Given the description of an element on the screen output the (x, y) to click on. 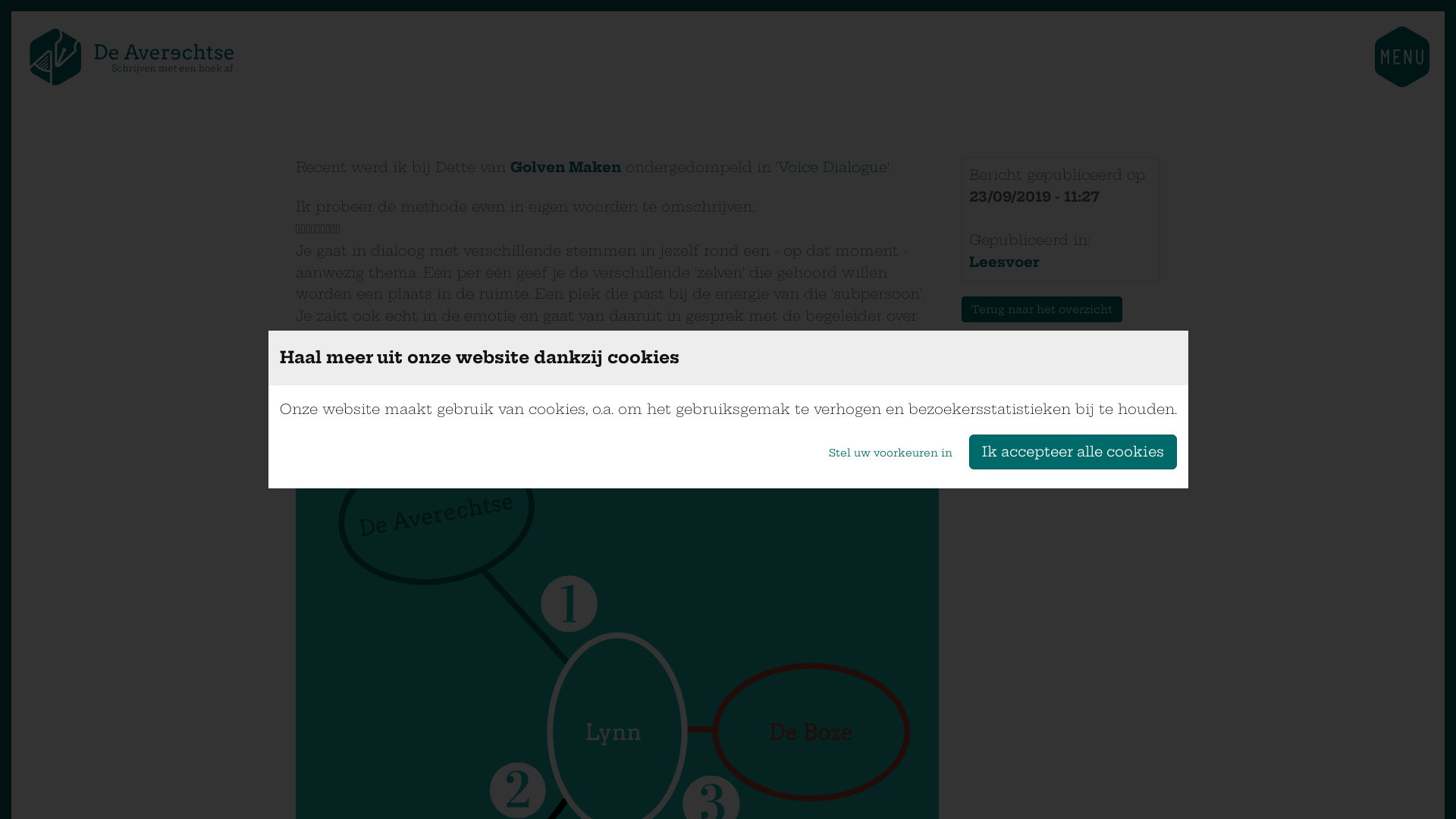
Leesvoer Element type: text (1004, 261)
Terug naar het overzicht Element type: text (1041, 309)
Golven Maken Element type: text (565, 166)
Ik accepteer alle cookies Element type: text (1072, 451)
Stel uw voorkeuren in Element type: text (890, 451)
